Given the description of an element on the screen output the (x, y) to click on. 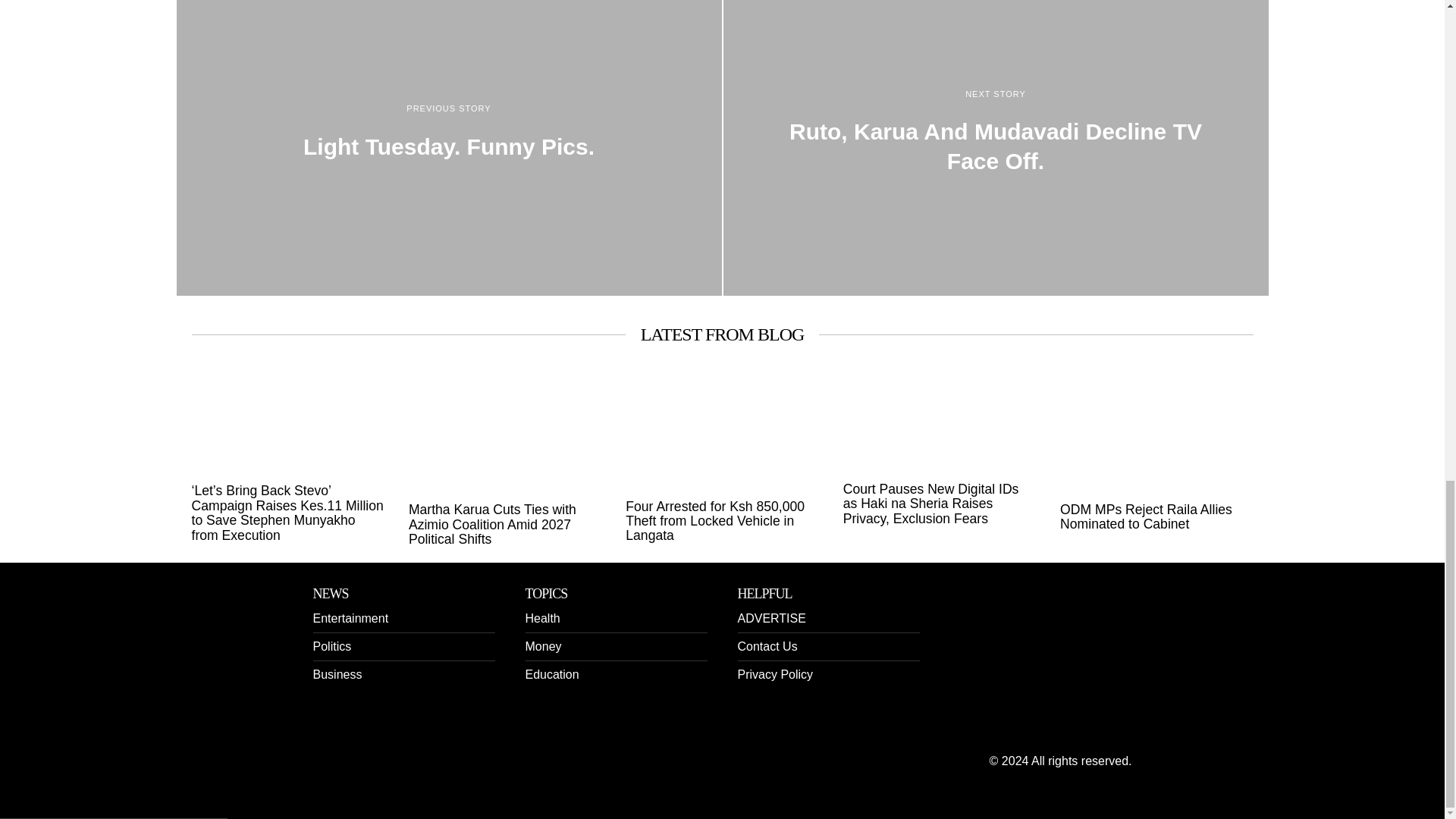
ODM MPs Reject Raila Allies Nominated to Cabinet (1155, 517)
Entertainment (350, 617)
Politics (331, 645)
Business (337, 674)
Health (541, 617)
